Given the description of an element on the screen output the (x, y) to click on. 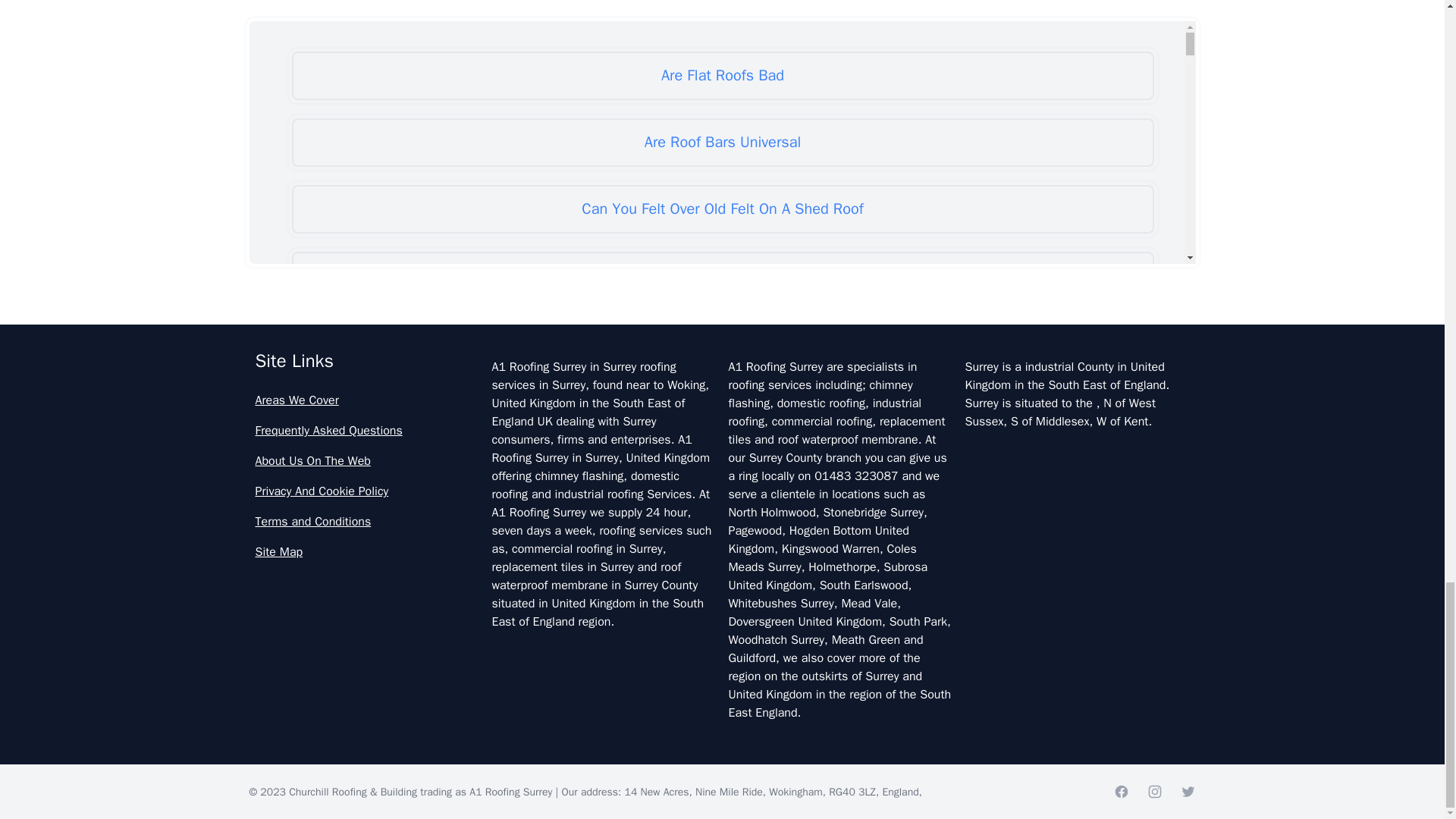
Does Buildings Insurance Cover Roof Repairs (722, 743)
Can You Paint Roof Felt (722, 275)
Can You Walk On A Tile Roof (722, 476)
Can You Paint Roof Tiles (722, 342)
Are Roof Bars Universal (722, 142)
Can You Felt Over Old Felt On A Shed Roof (722, 209)
Are Flat Roofs Bad (722, 75)
Can You Put Solar Panels On A Flat Roof (722, 409)
Do I Need Building Regs To Change Roof Tiles (722, 542)
Do You Need Felt Under Roof Tiles (722, 609)
Do You Need Planning Permission To Change Conservatory Roof (722, 676)
